Given the description of an element on the screen output the (x, y) to click on. 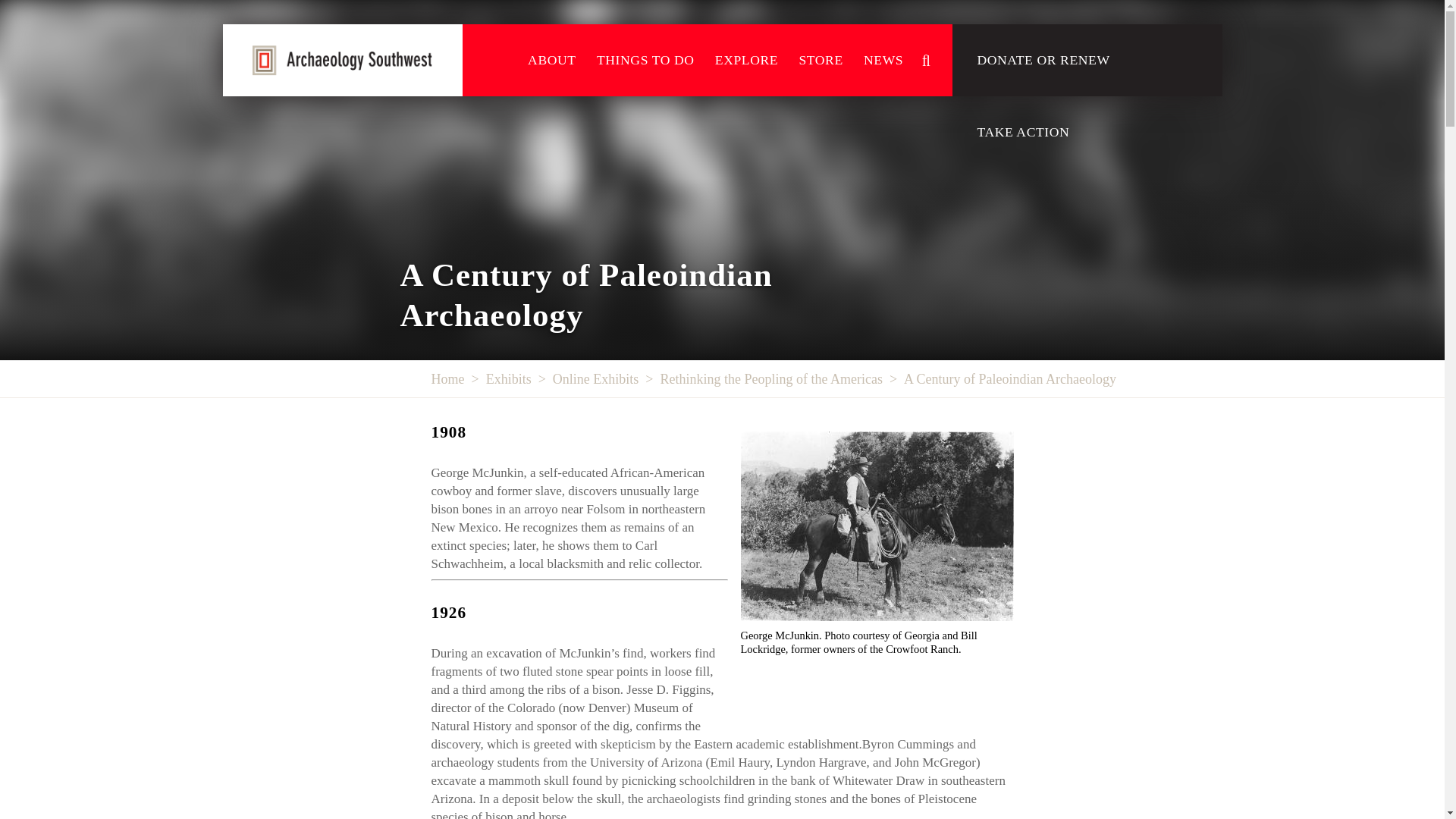
Home (447, 378)
Online Exhibits (596, 378)
DONATE OR RENEW (1043, 60)
TAKE ACTION (1024, 132)
A Century of Paleoindian Archaeology (1010, 378)
Rethinking the Peopling of the Americas (770, 378)
Exhibits (508, 378)
